Given the description of an element on the screen output the (x, y) to click on. 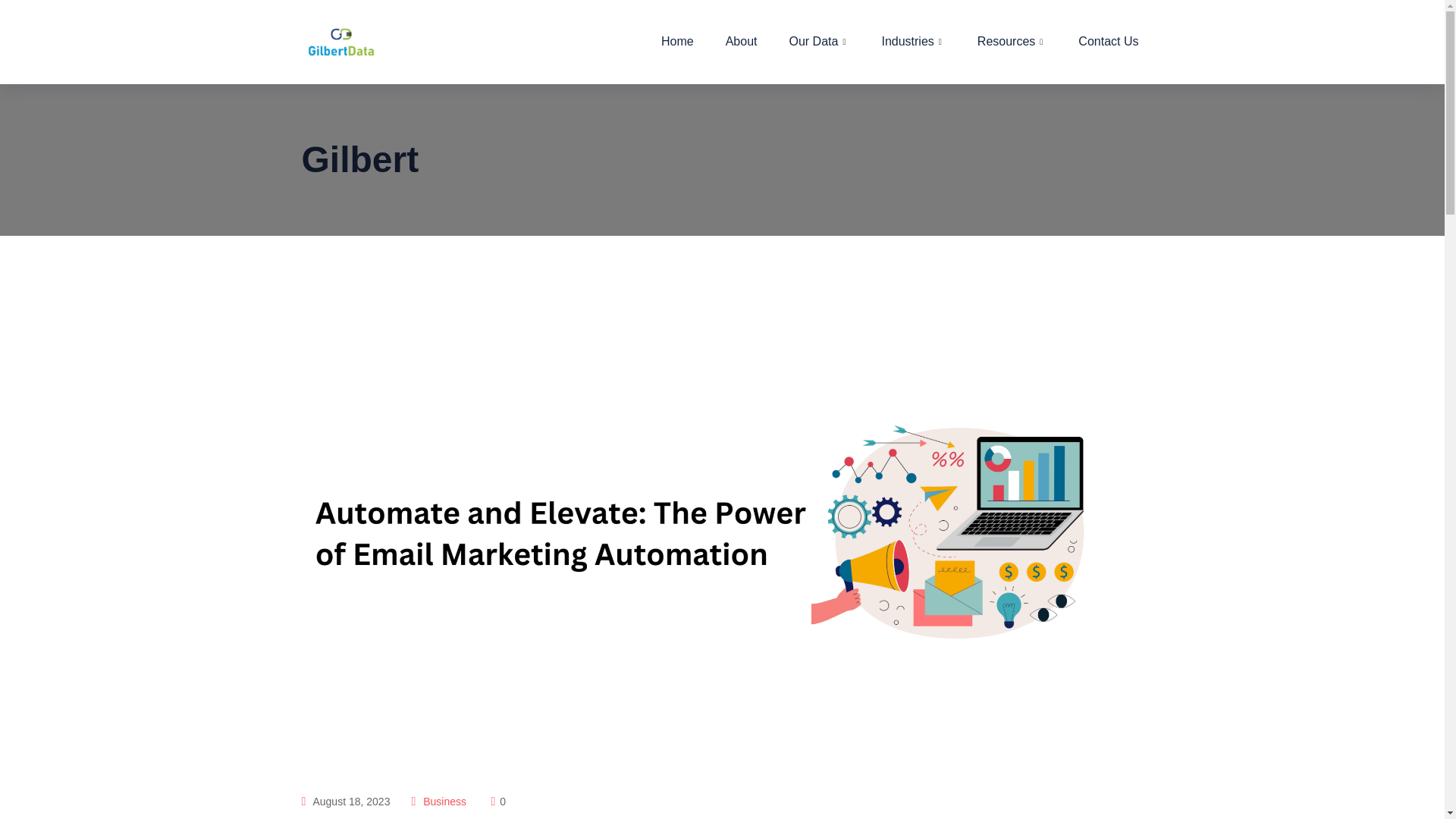
Industries (912, 41)
About (741, 41)
Our Data (818, 41)
Home (677, 41)
